Given the description of an element on the screen output the (x, y) to click on. 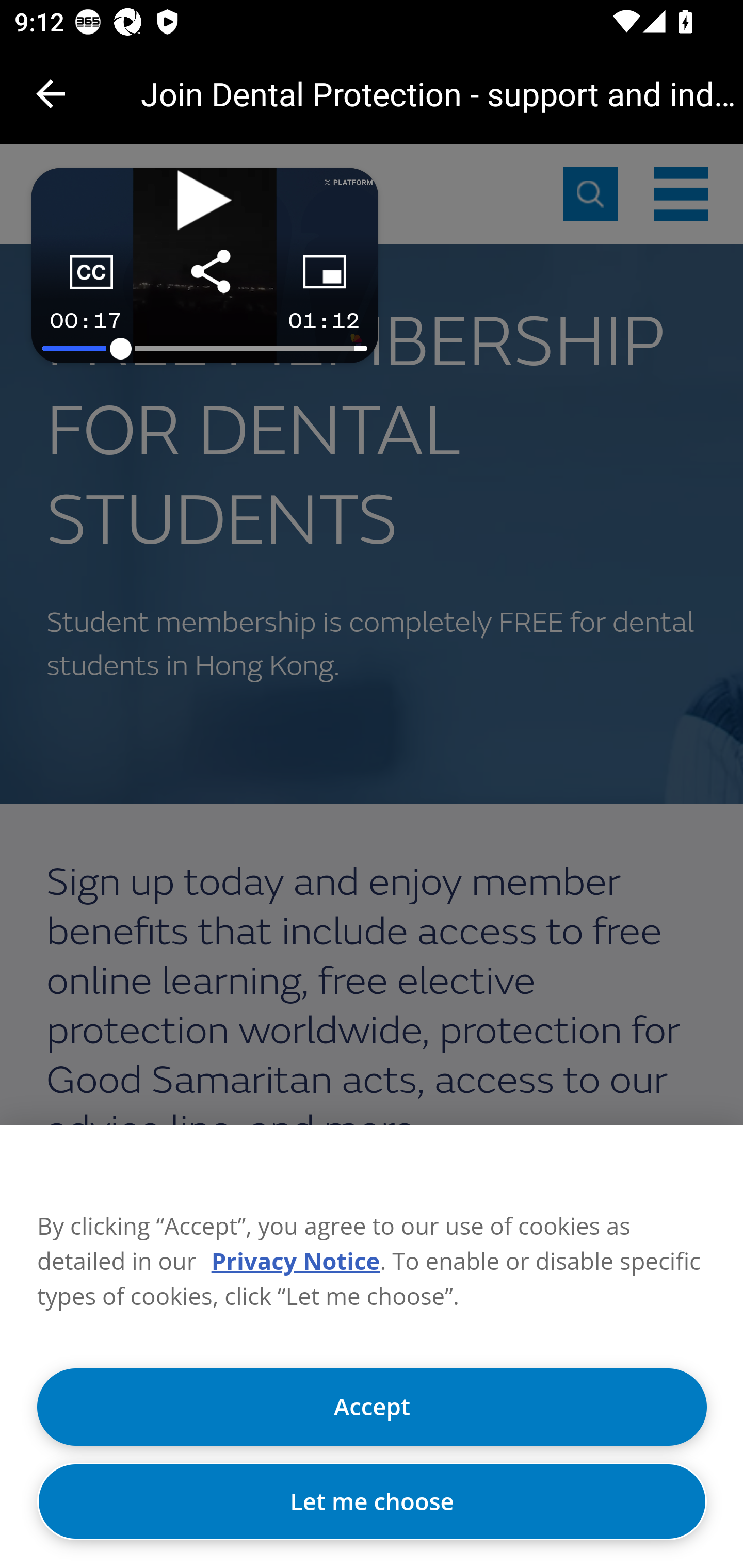
Navigate up (50, 93)
JOIN TODAY (371, 1513)
